Given the description of an element on the screen output the (x, y) to click on. 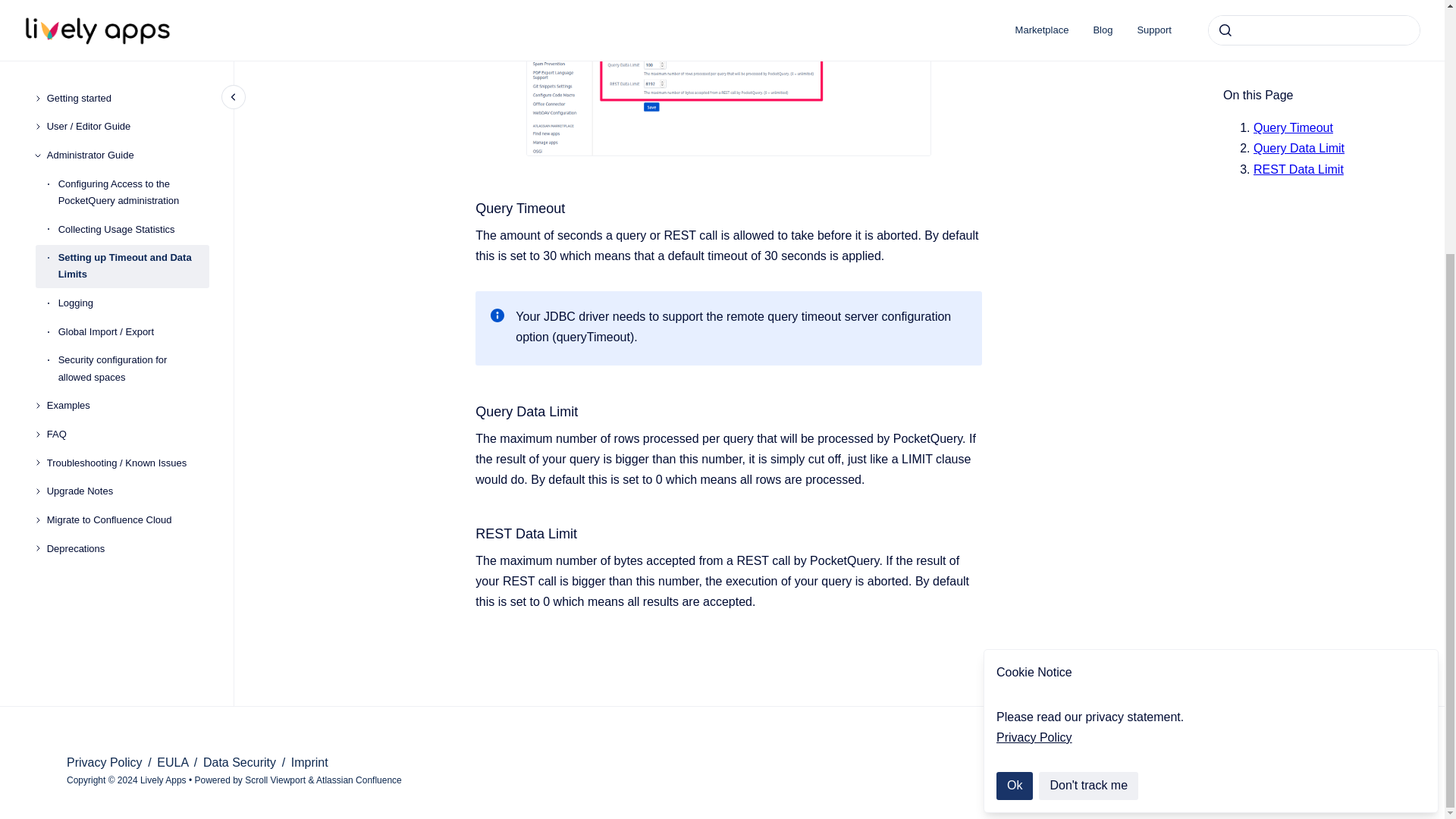
Deprecations (127, 189)
FAQ (127, 75)
Examples (127, 46)
Privacy Policy (1033, 377)
Security configuration for allowed spaces (133, 16)
Ok (1013, 426)
Migrate to Confluence Cloud (127, 161)
Upgrade Notes (127, 133)
Don't track me (1088, 426)
